Given the description of an element on the screen output the (x, y) to click on. 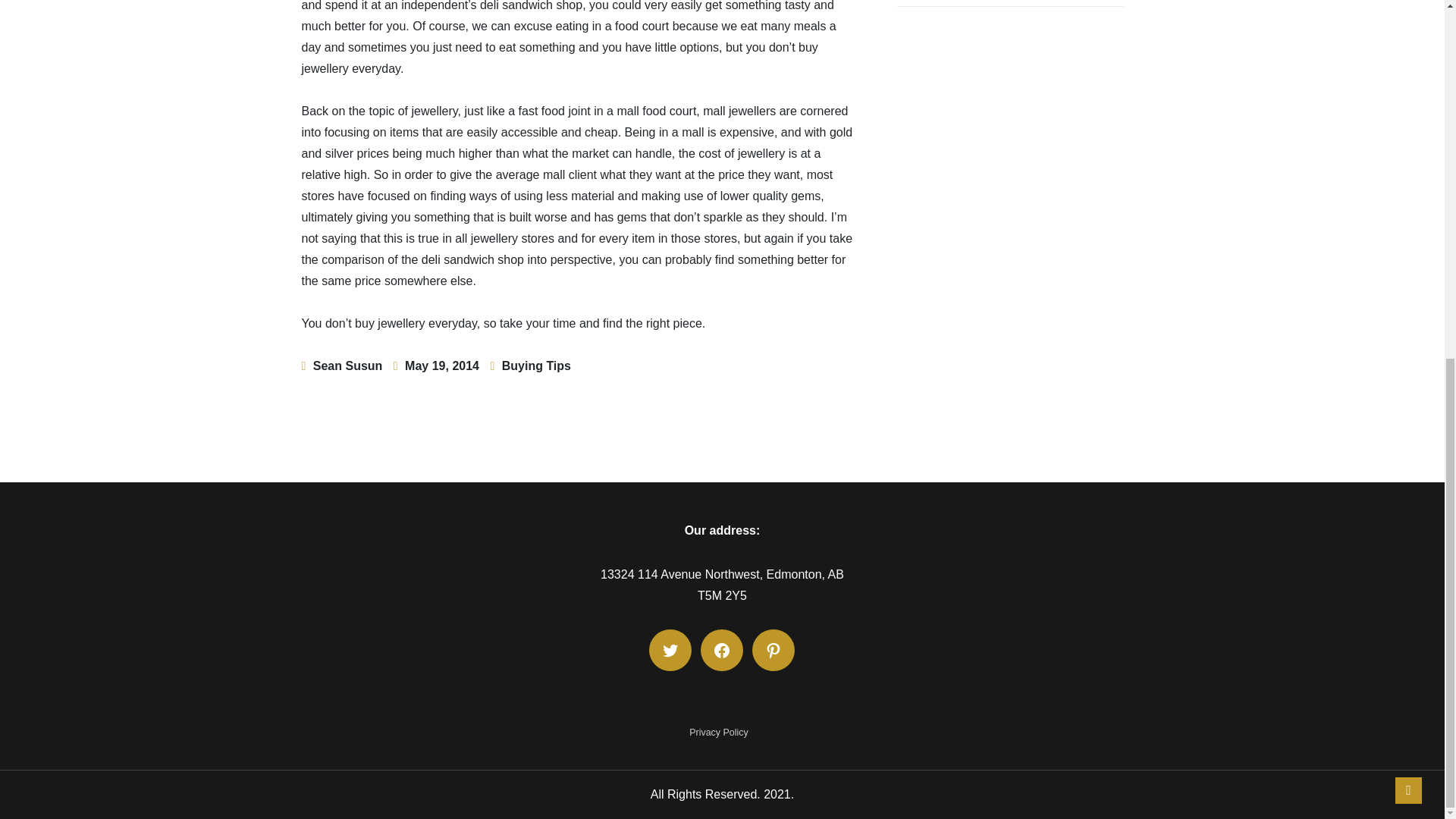
Privacy Policy (718, 732)
Back To Top (1408, 155)
Facebook (721, 649)
Sean Susun (347, 365)
Buying Tips (536, 365)
Edmonton Jewellery Shopping and Repair Guide (1010, 2)
Twitter (670, 649)
Pinterest (773, 649)
